Given the description of an element on the screen output the (x, y) to click on. 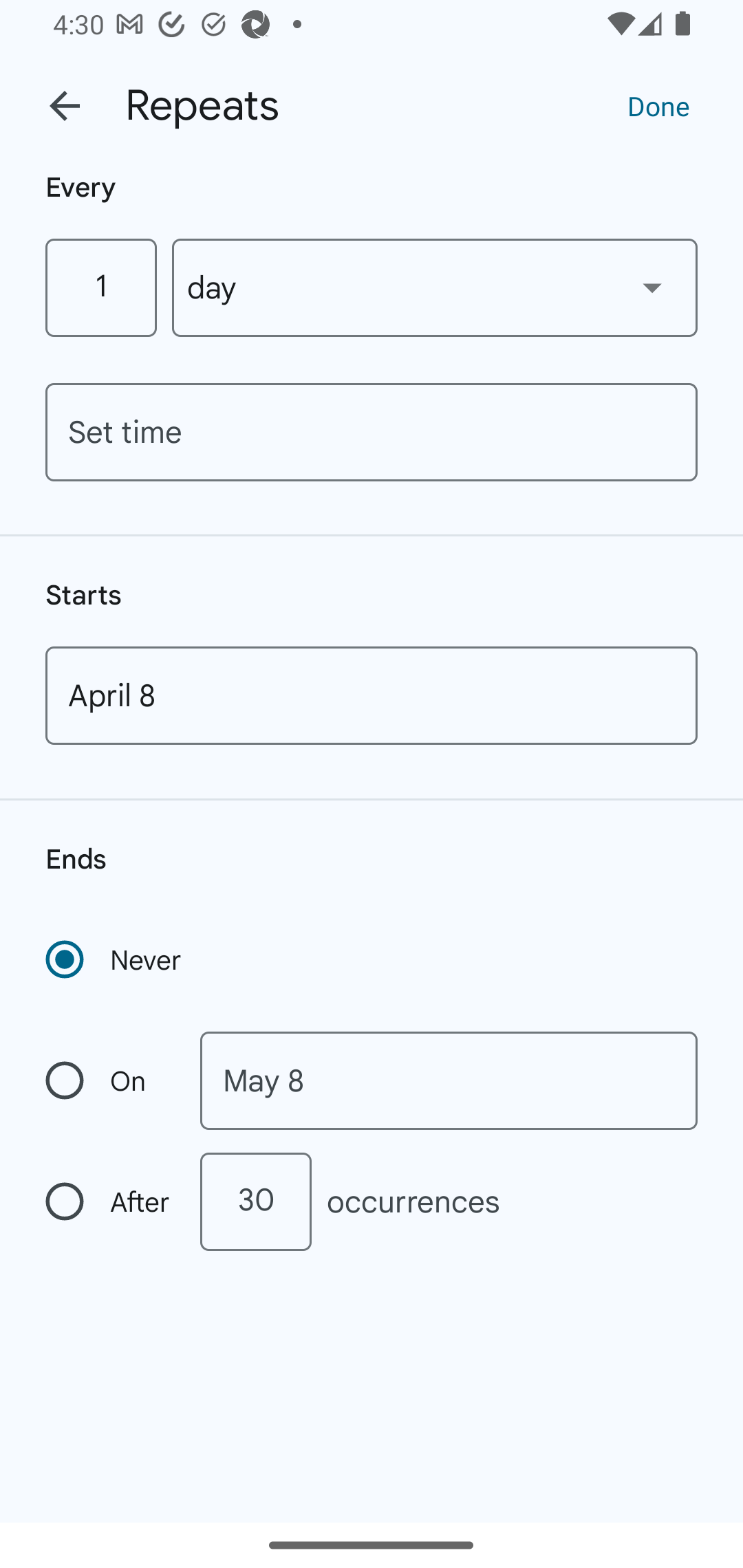
Back (64, 105)
Done (658, 105)
1 (100, 287)
day (434, 287)
Show dropdown menu (652, 286)
Set time (371, 431)
April 8 (371, 695)
Never Recurrence never ends (115, 959)
May 8 (448, 1080)
On Recurrence ends on a specific date (109, 1080)
30 (255, 1201)
